Given the description of an element on the screen output the (x, y) to click on. 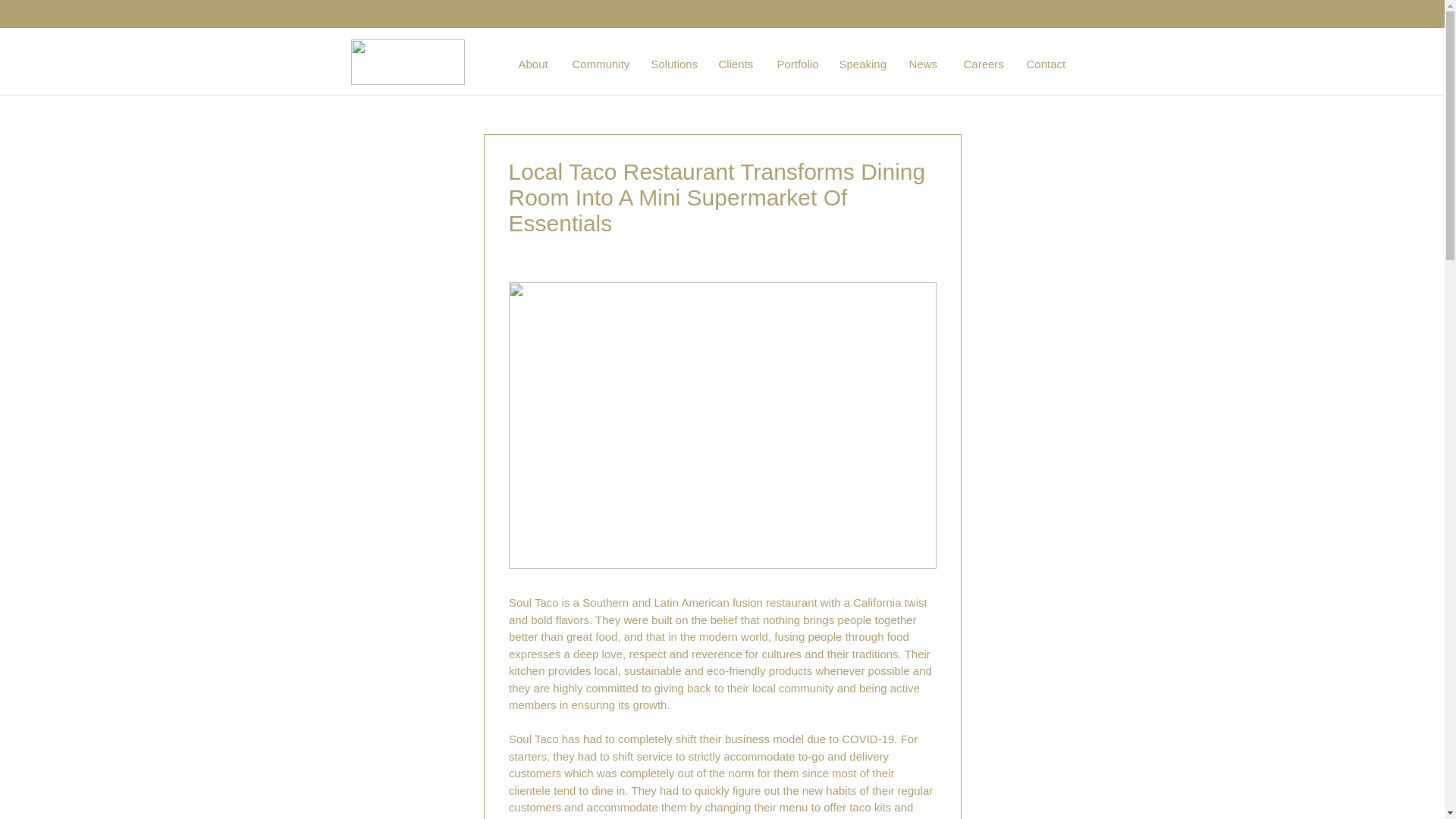
Clients (746, 64)
Contact (1055, 64)
News (933, 64)
Careers (992, 64)
Portfolio (805, 64)
About (543, 64)
Solutions (682, 64)
Speaking (871, 64)
Community (609, 64)
